Given the description of an element on the screen output the (x, y) to click on. 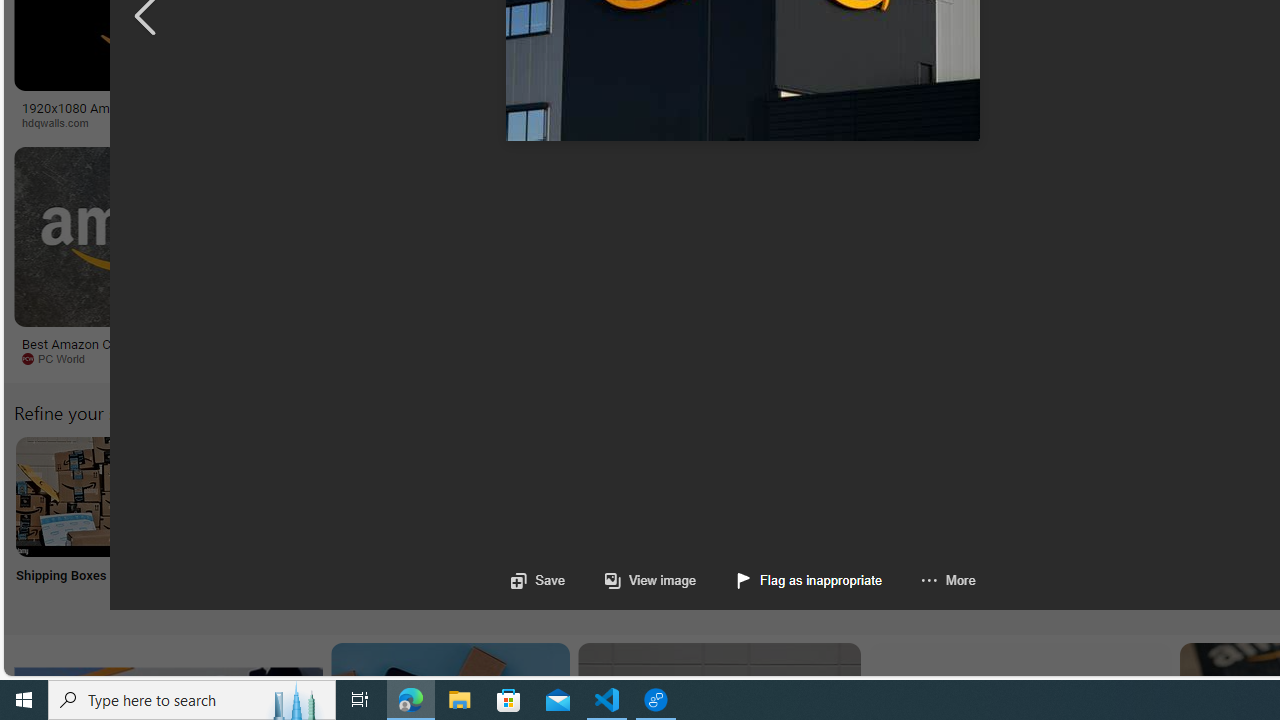
Amazon Online Shopping Search (207, 496)
manilashaker.com (1162, 358)
Amazon Package Delivery (735, 496)
Best Amazon Cyber Monday deals 2019 | PCWorld (146, 350)
Amazon Wish List (999, 496)
aiophotoz.com (611, 358)
Online Store (1131, 521)
